Given the description of an element on the screen output the (x, y) to click on. 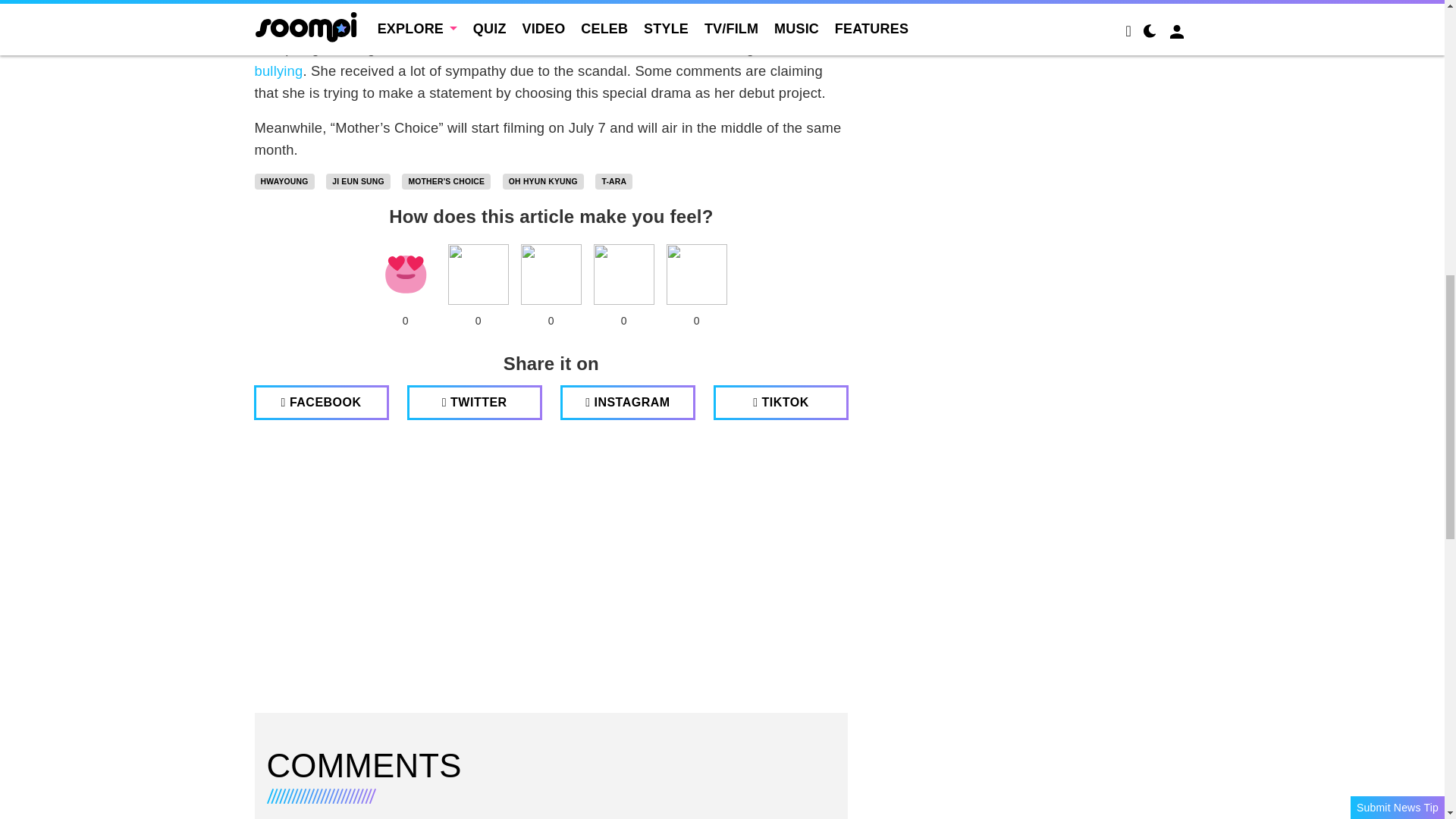
Hwayoung (284, 181)
Mother's Choice (445, 181)
Ji Eun Sung (358, 181)
OMG (696, 274)
OH HYUN KYUNG (542, 181)
fire (550, 274)
due to bullying (544, 58)
Fire (550, 274)
HWAYOUNG (284, 181)
heart (405, 274)
